Given the description of an element on the screen output the (x, y) to click on. 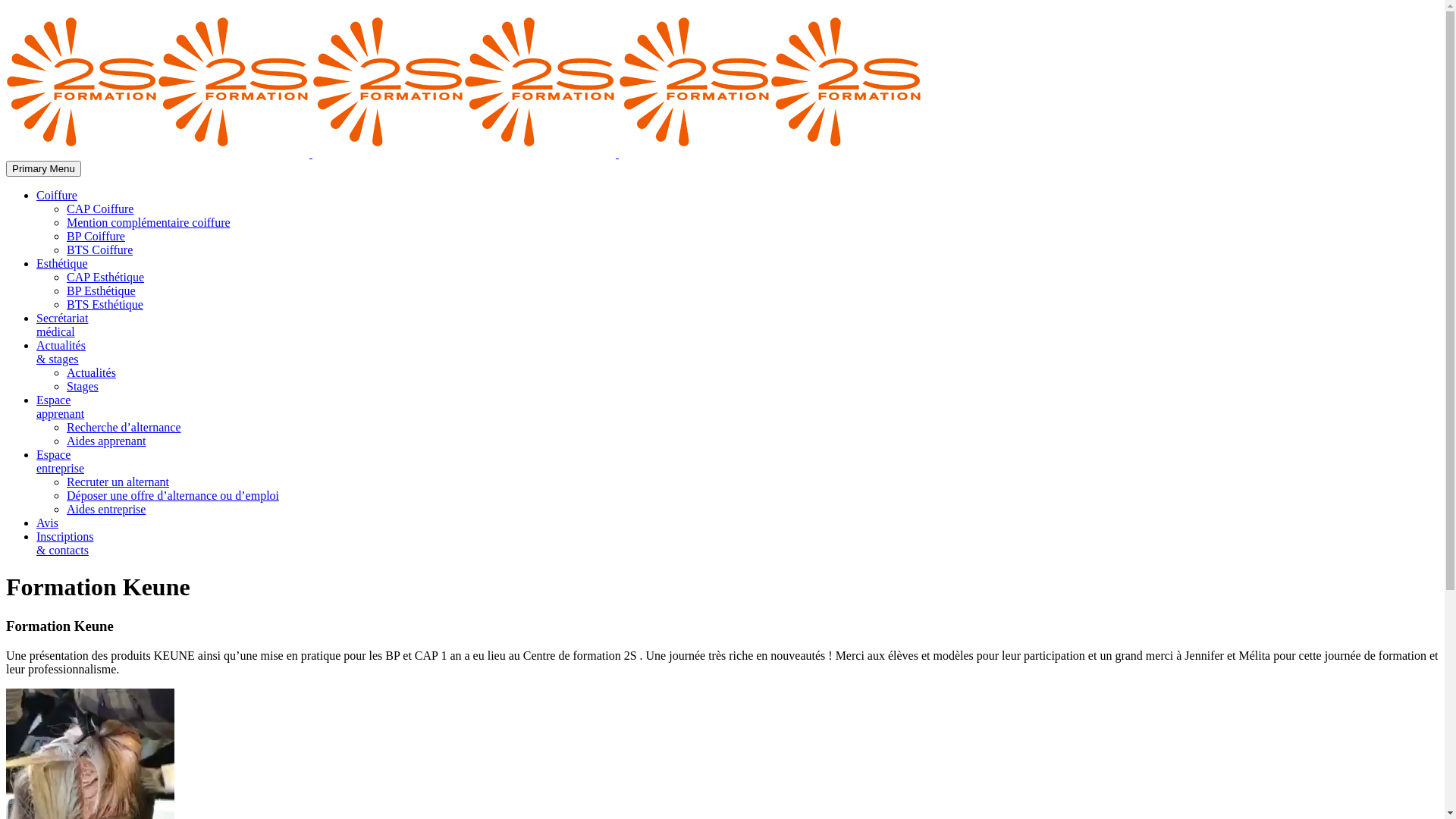
Avis Element type: text (47, 522)
Aides entreprise Element type: text (105, 508)
Recruter un alternant Element type: text (117, 481)
Espace
apprenant Element type: text (60, 406)
Inscriptions
& contacts Element type: text (65, 543)
Coiffure Element type: text (56, 194)
Espace
entreprise Element type: text (60, 461)
BP Coiffure Element type: text (95, 235)
BTS Coiffure Element type: text (99, 249)
Stages Element type: text (82, 385)
Aides apprenant Element type: text (105, 440)
Primary Menu Element type: text (43, 168)
CAP Coiffure Element type: text (99, 208)
